Given the description of an element on the screen output the (x, y) to click on. 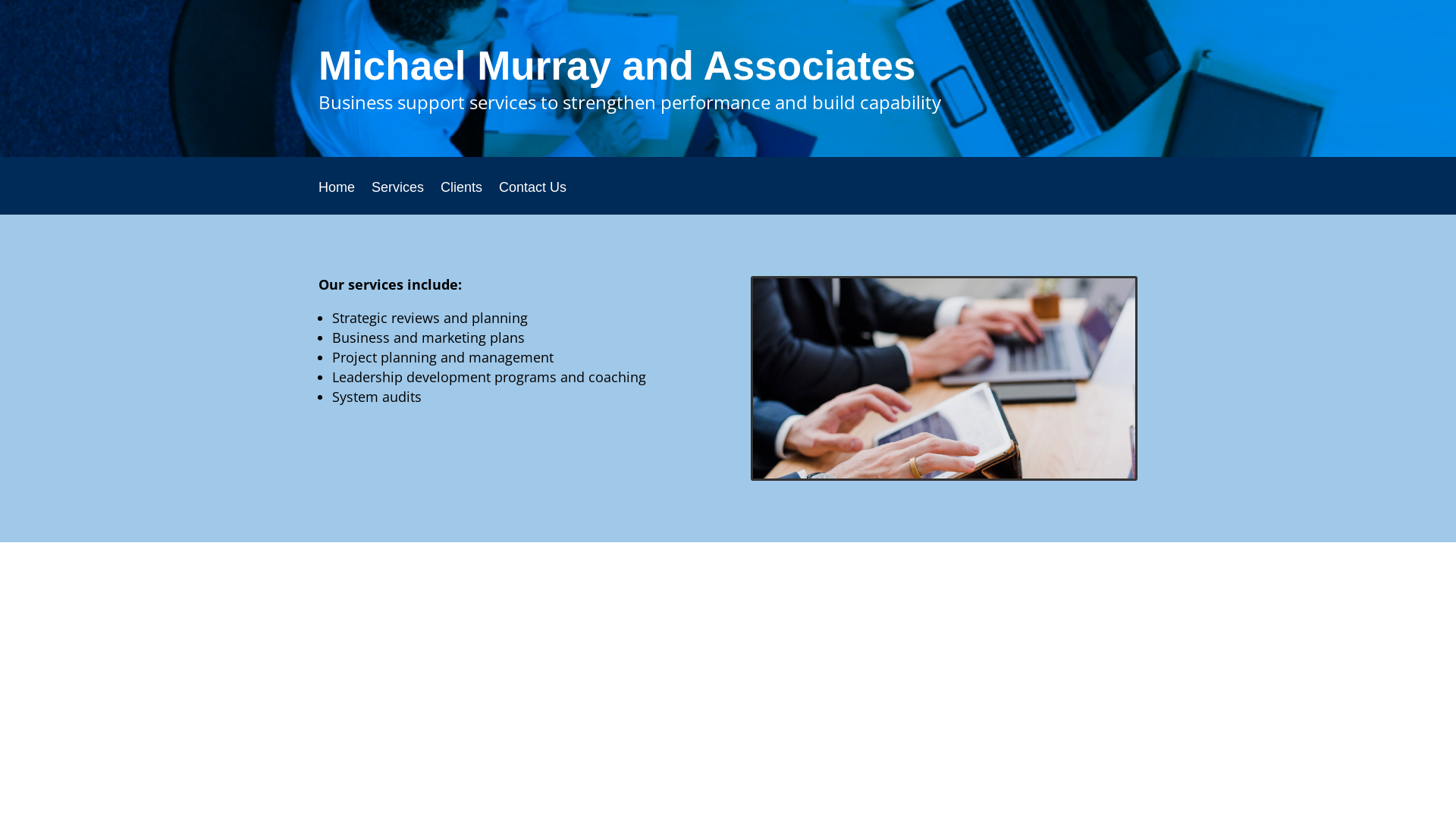
Services Element type: text (397, 198)
Clients Element type: text (461, 198)
Contact Us Element type: text (532, 198)
Home Element type: text (336, 198)
